Given the description of an element on the screen output the (x, y) to click on. 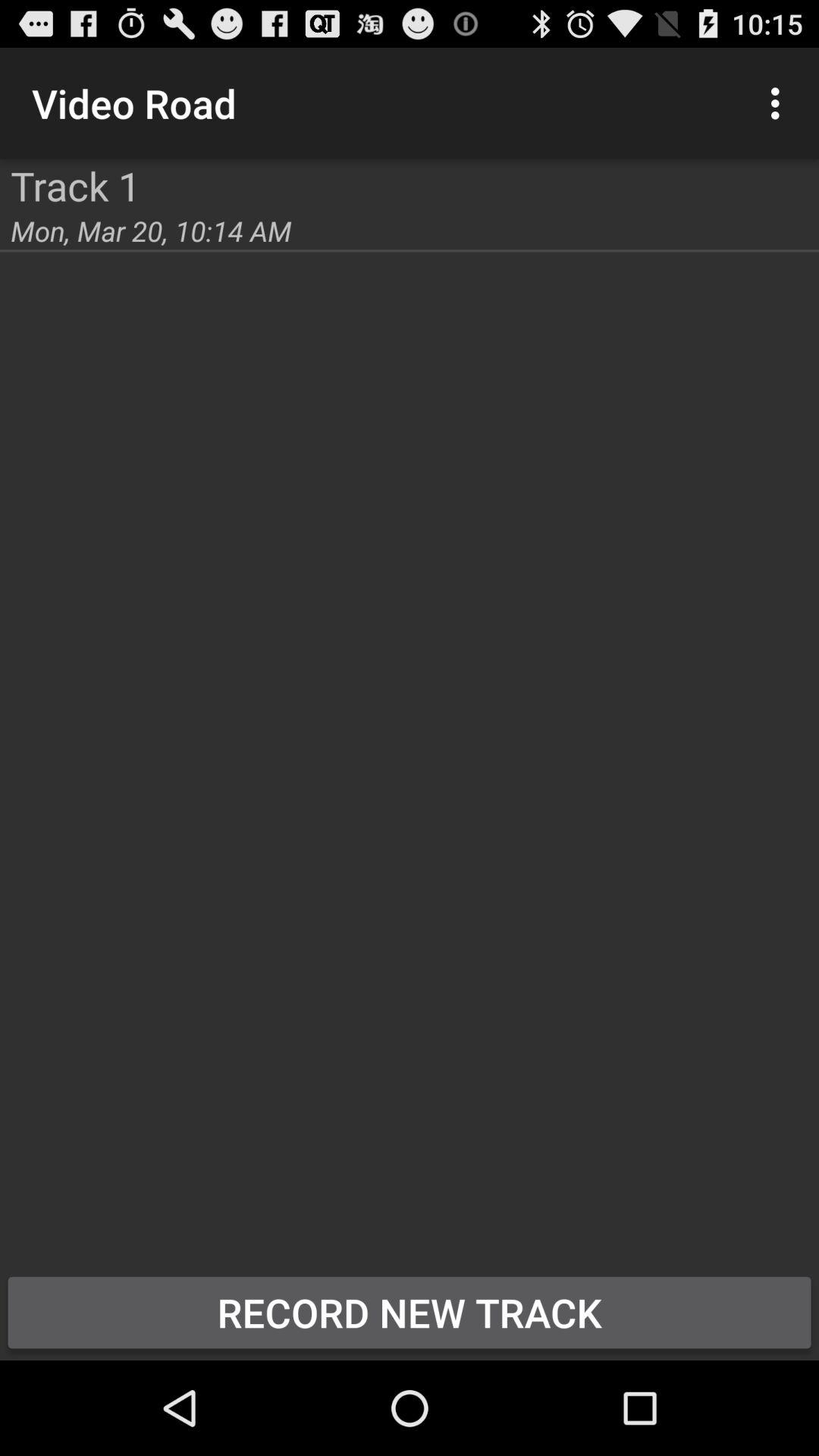
turn on the mon mar 20 app (150, 230)
